Given the description of an element on the screen output the (x, y) to click on. 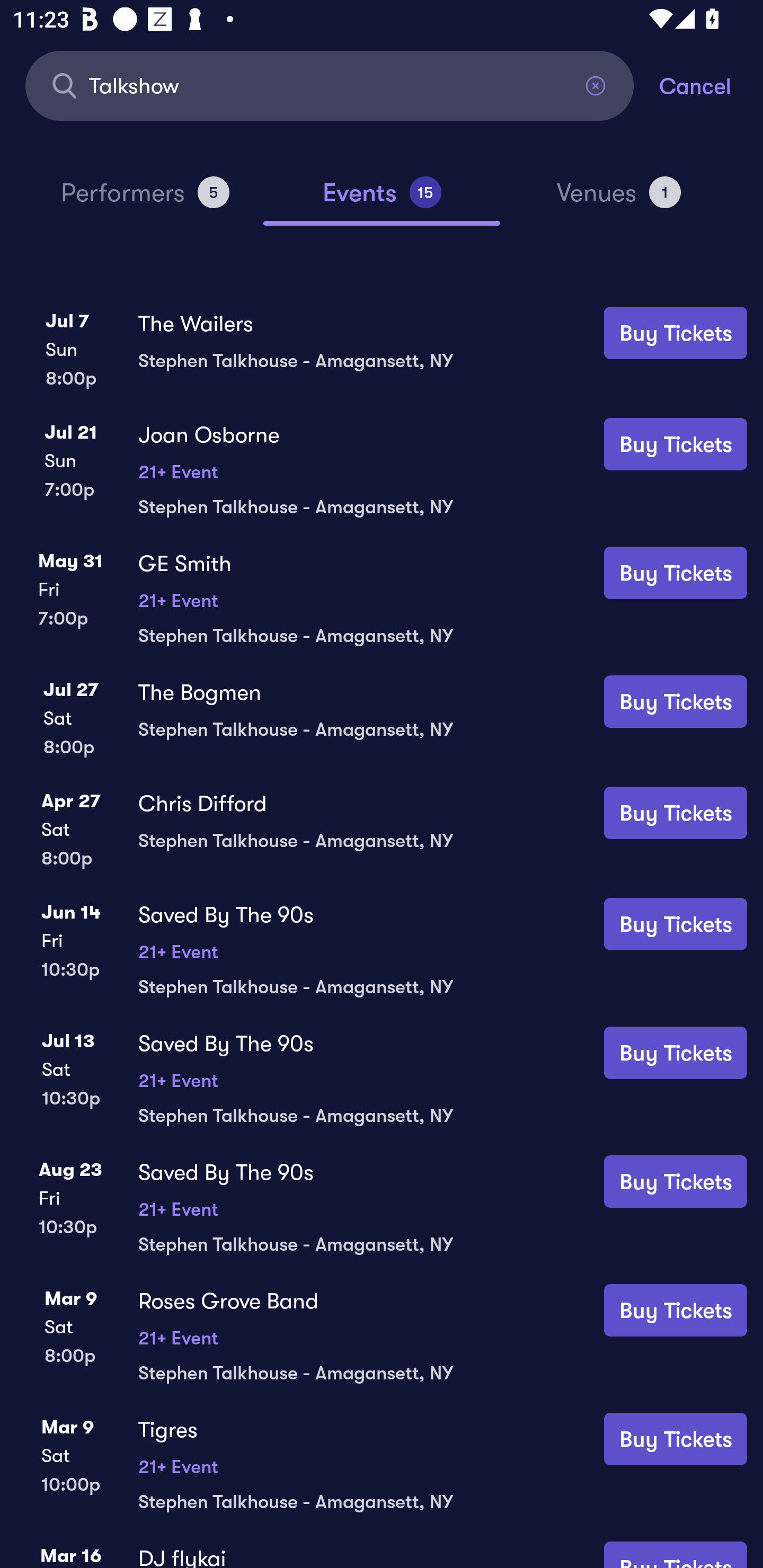
Talkshow Find (329, 85)
Talkshow Find (329, 85)
Cancel (711, 85)
Performers 5 (144, 200)
Events 15 (381, 200)
Venues 1 (618, 200)
